Given the description of an element on the screen output the (x, y) to click on. 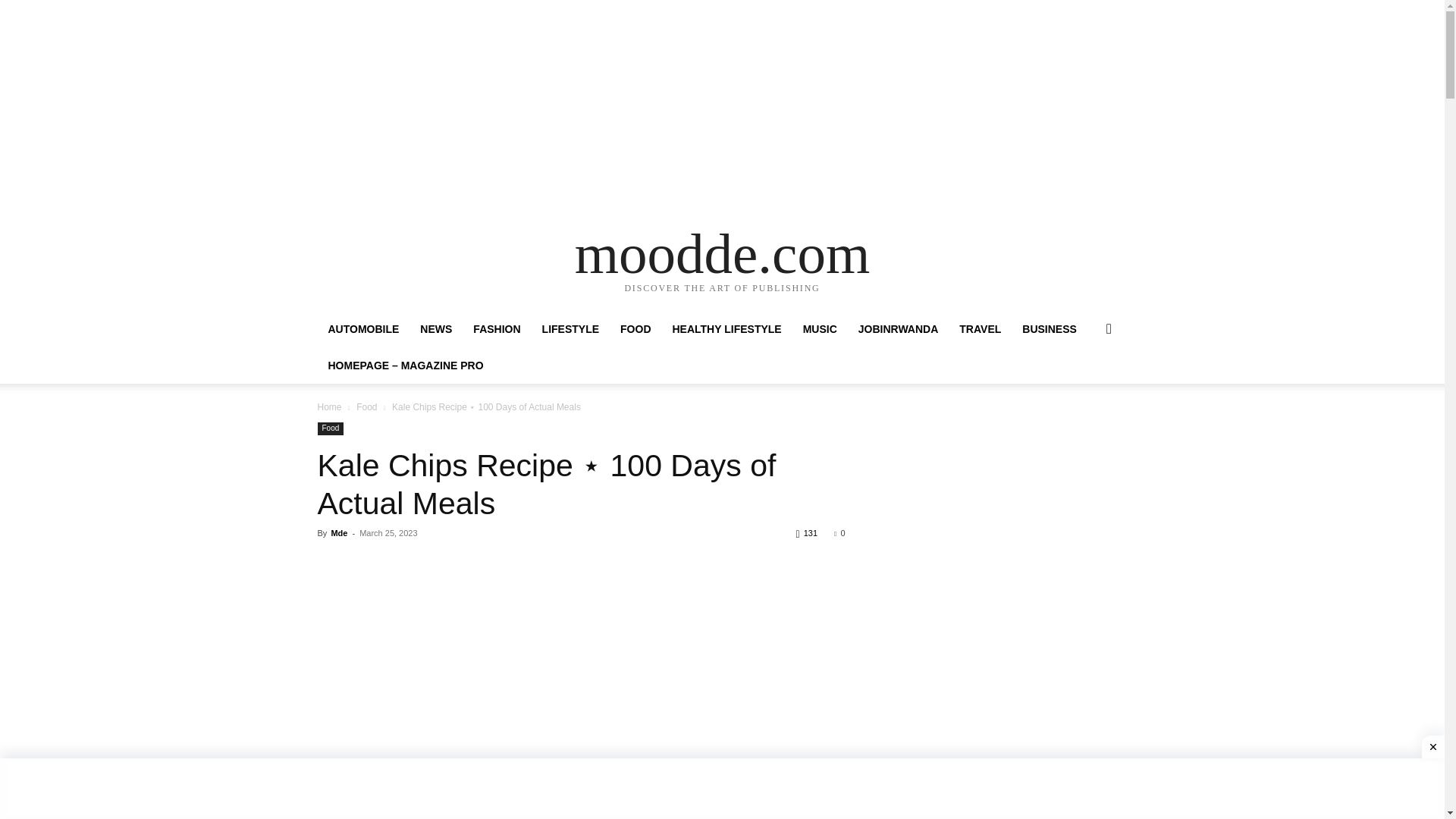
View all posts in Food (366, 407)
Food (366, 407)
Mde (338, 532)
BUSINESS (1049, 329)
Food (330, 428)
AUTOMOBILE (363, 329)
0 (839, 532)
MUSIC (819, 329)
HEALTHY LIFESTYLE (726, 329)
Home (328, 407)
TRAVEL (980, 329)
Advertisement (580, 676)
Search (1085, 389)
NEWS (436, 329)
